Given the description of an element on the screen output the (x, y) to click on. 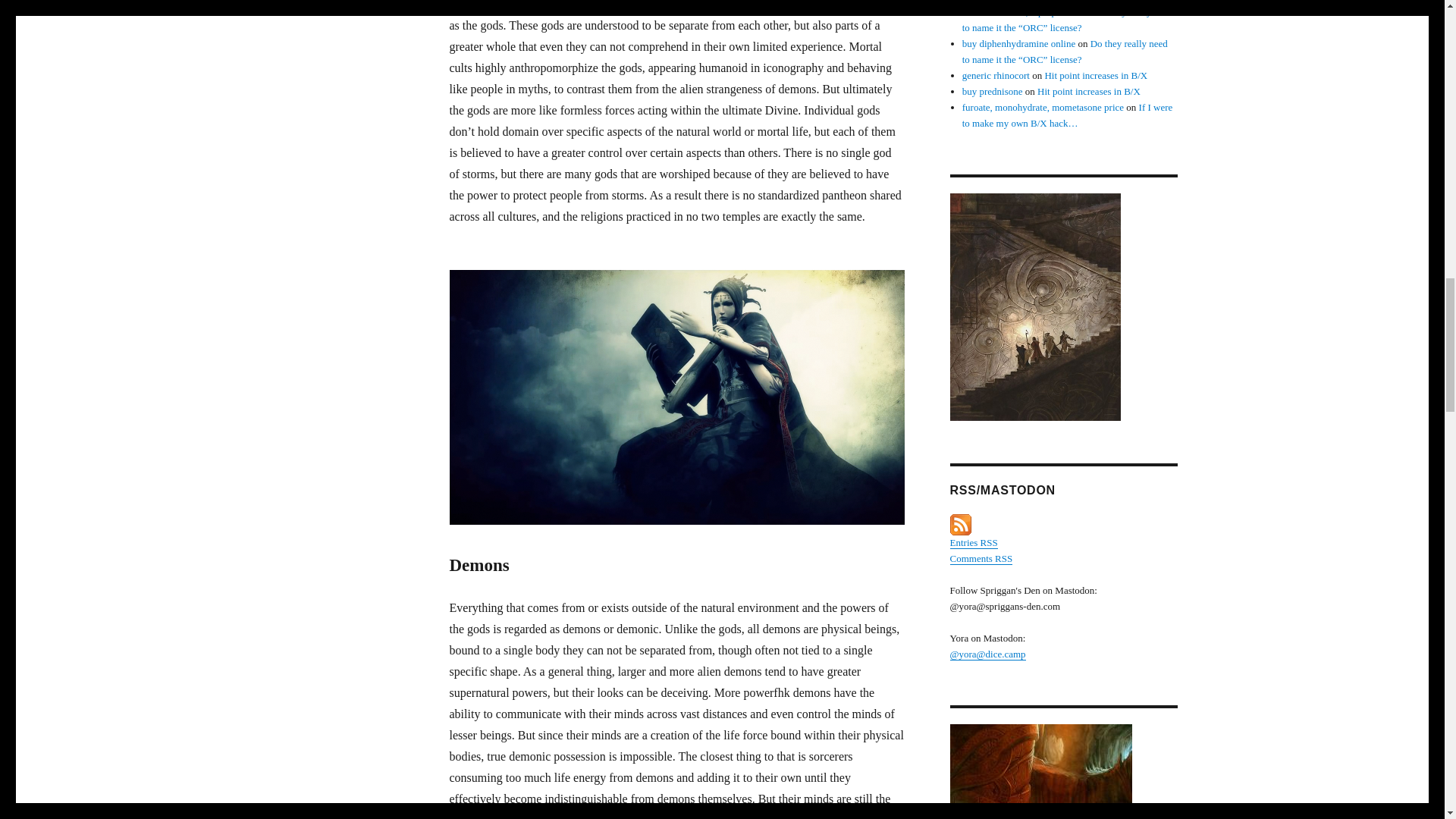
Entries RSS (973, 542)
Comments RSS (980, 558)
